Given the description of an element on the screen output the (x, y) to click on. 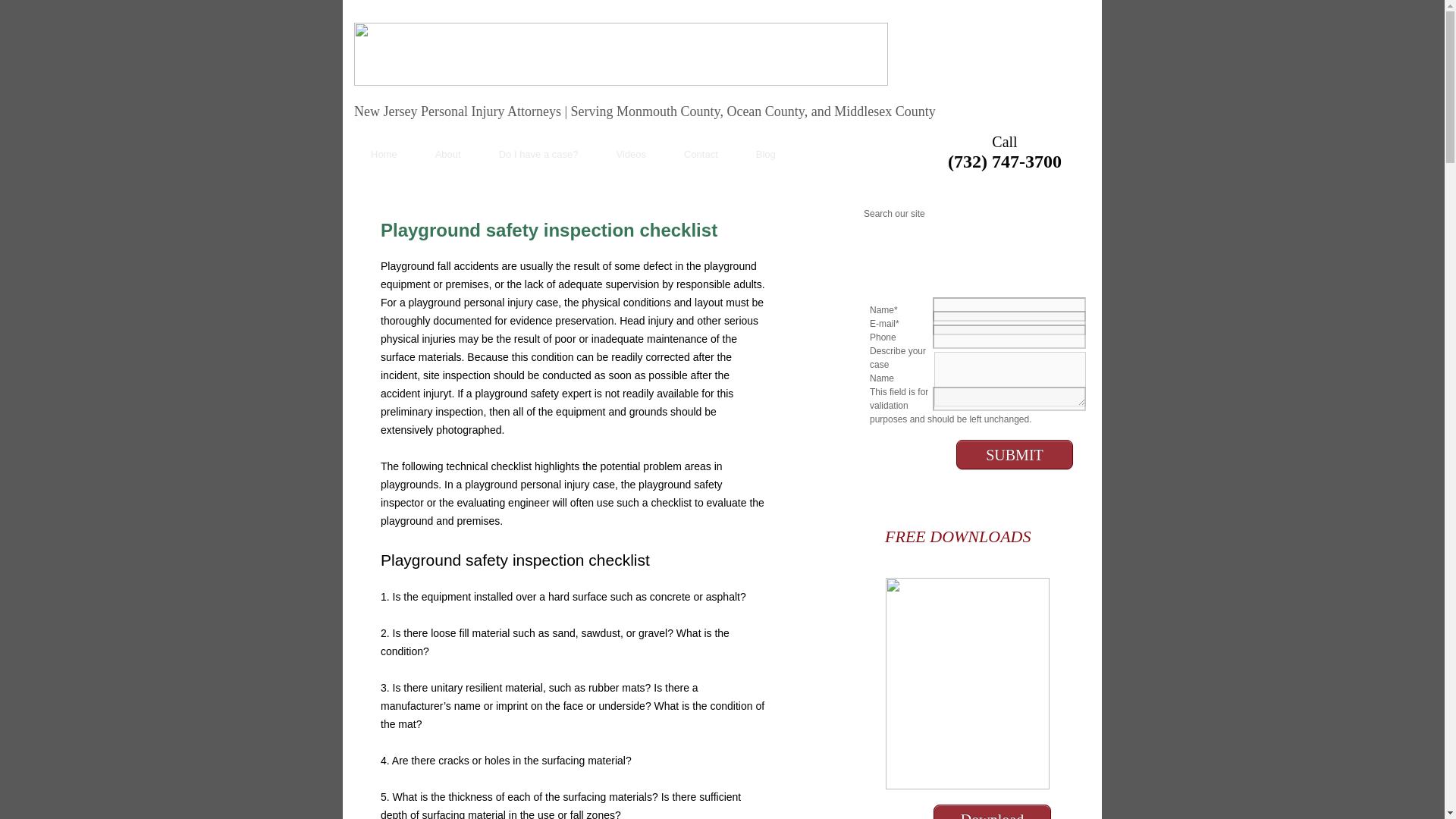
Blog (765, 154)
About (448, 154)
Search our site (947, 213)
Download (991, 815)
Home (384, 154)
Contact (700, 154)
Do I have a case? (538, 154)
Videos (630, 154)
SUBMIT (1014, 454)
SUBMIT (1014, 454)
